Given the description of an element on the screen output the (x, y) to click on. 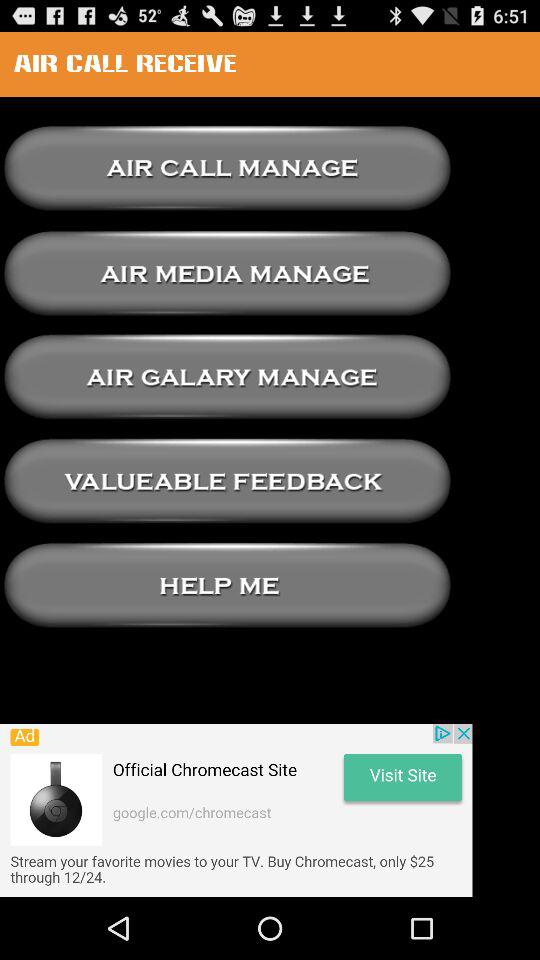
go to back (227, 272)
